Given the description of an element on the screen output the (x, y) to click on. 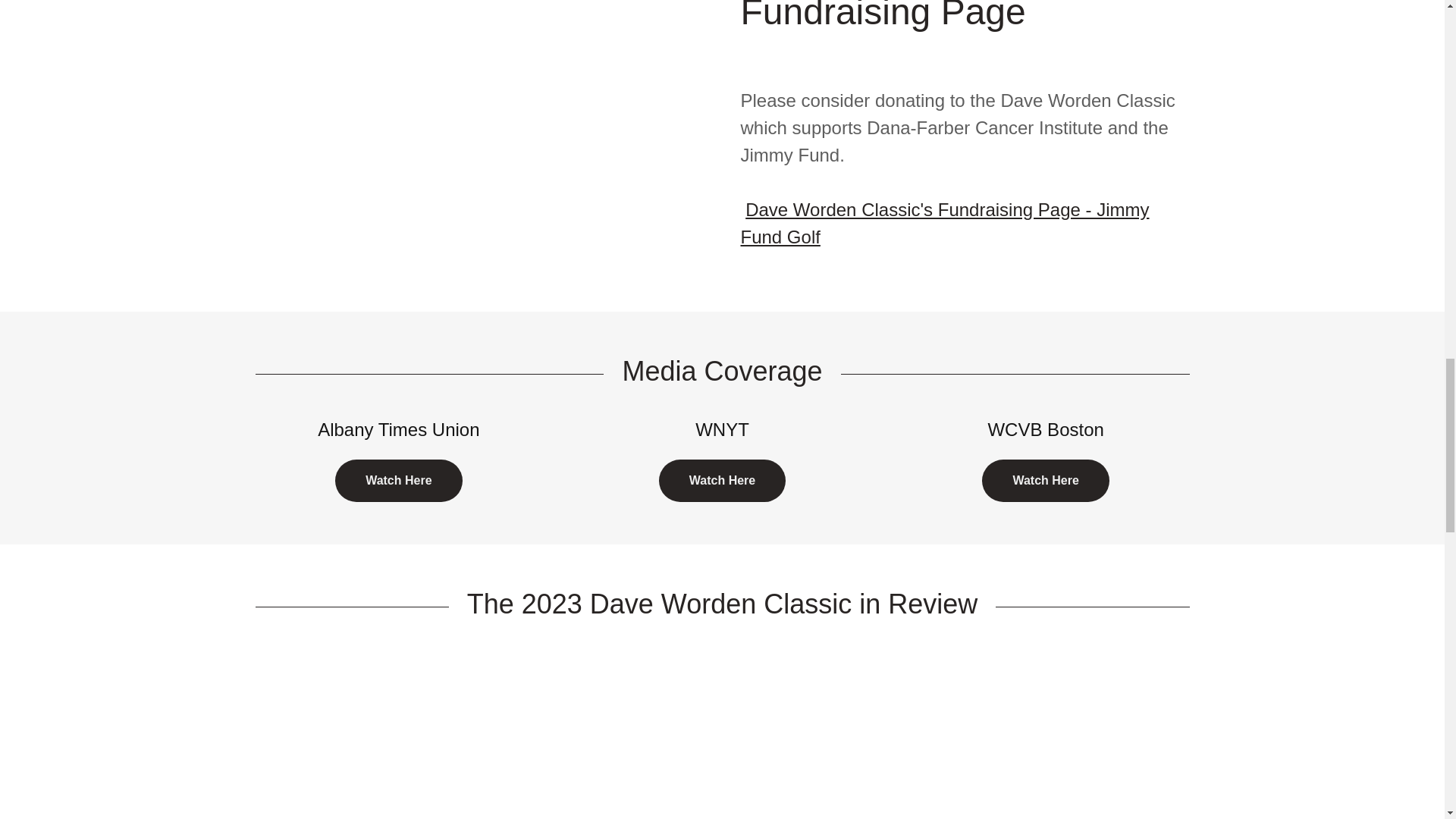
Watch Here (1044, 480)
Watch Here (722, 480)
Watch Here (397, 480)
Dave Worden Classic's Fundraising Page - Jimmy Fund Golf (943, 223)
